Given the description of an element on the screen output the (x, y) to click on. 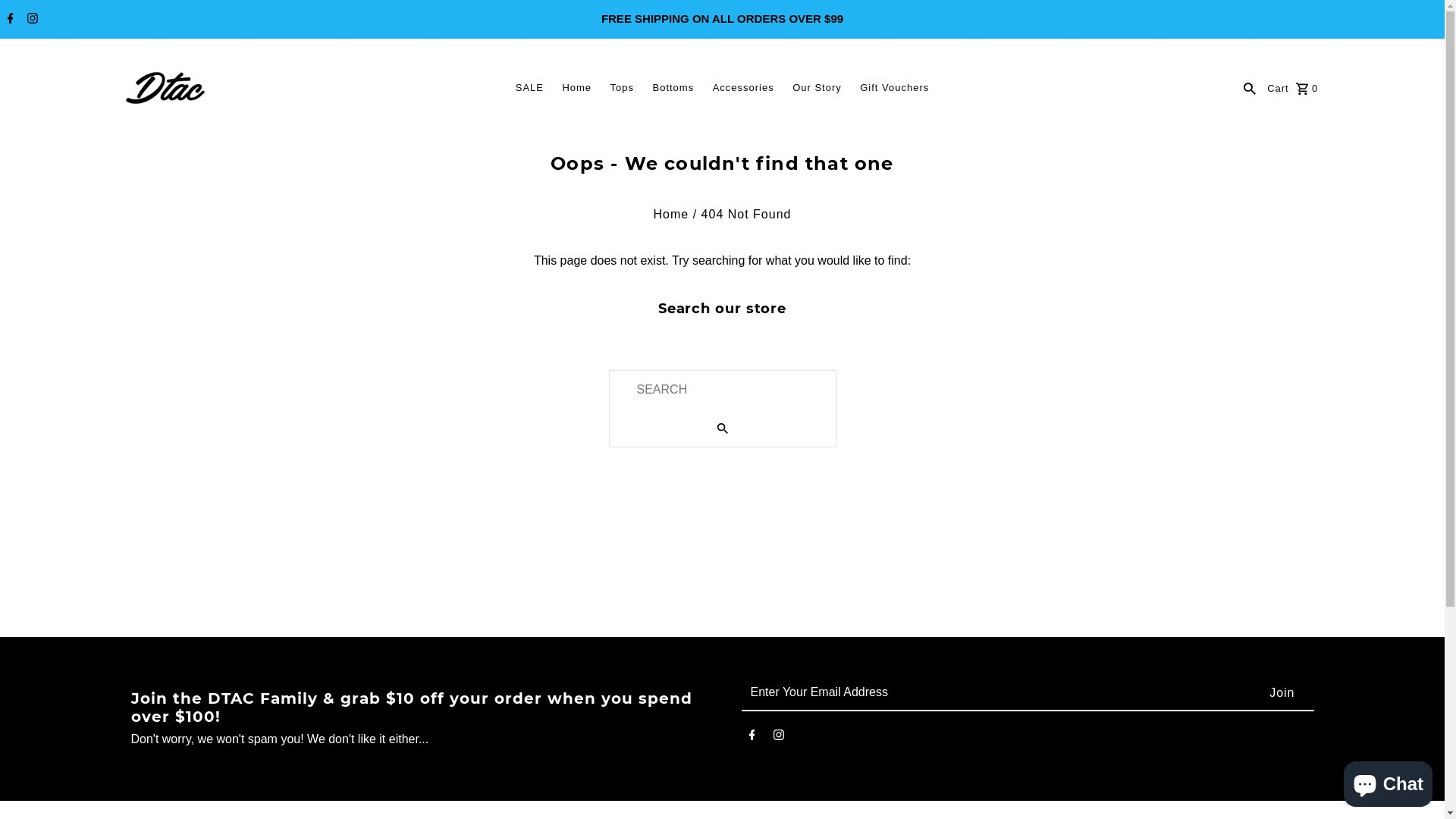
Home Element type: text (671, 213)
Gift Vouchers Element type: text (894, 87)
Accessories Element type: text (743, 87)
Home Element type: text (576, 87)
Our Story Element type: text (816, 87)
Join Element type: text (1281, 692)
Shopify online store chat Element type: hover (1388, 780)
Bottoms Element type: text (672, 87)
Tops Element type: text (621, 87)
SALE Element type: text (529, 87)
